Given the description of an element on the screen output the (x, y) to click on. 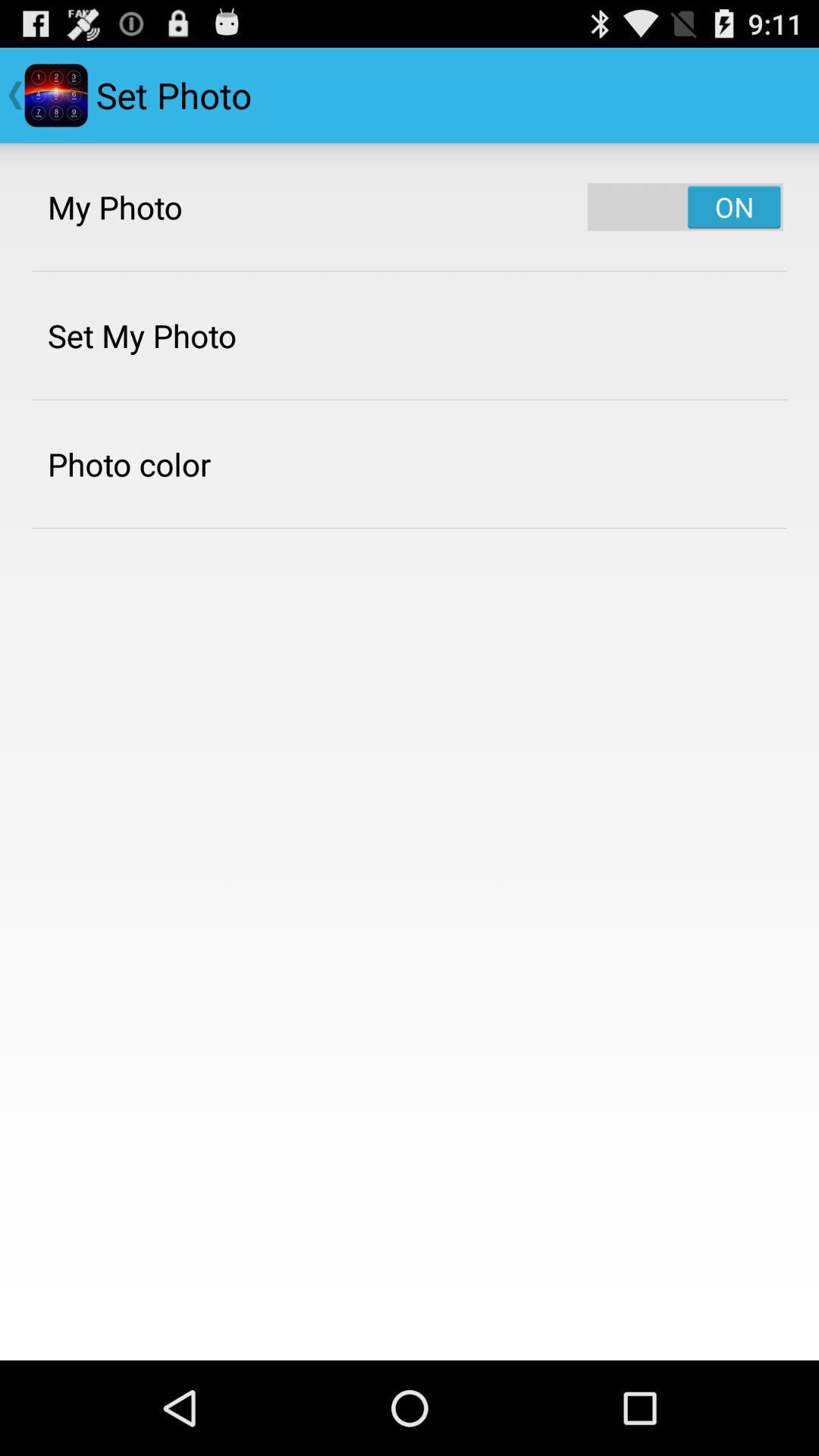
turn off the app next to my photo (685, 206)
